Given the description of an element on the screen output the (x, y) to click on. 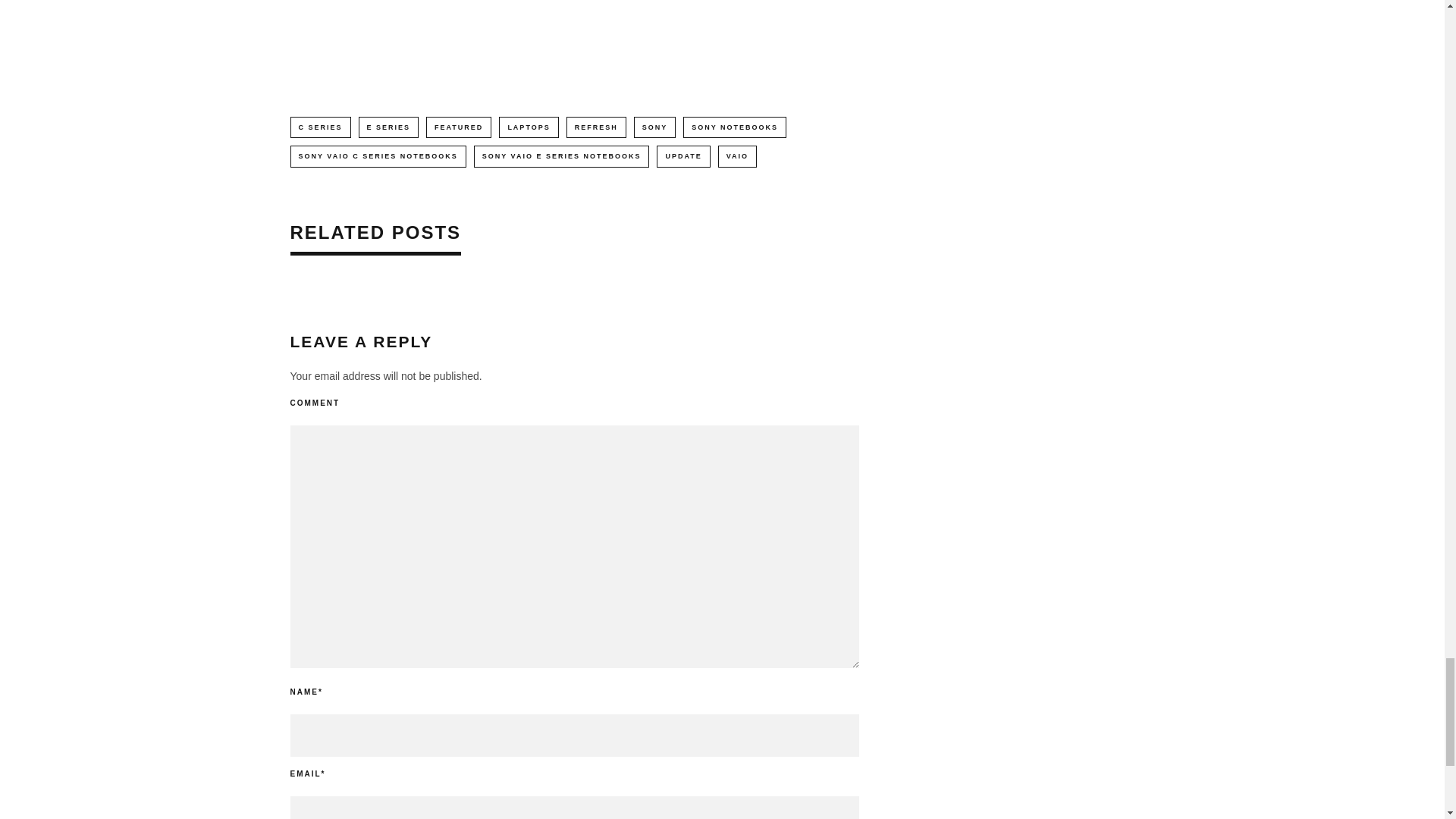
VAIO (737, 156)
SONY (655, 127)
SONY NOTEBOOKS (734, 127)
REFRESH (596, 127)
SONY VAIO E SERIES NOTEBOOKS (561, 156)
UPDATE (683, 156)
LAPTOPS (528, 127)
C SERIES (319, 127)
FEATURED (459, 127)
SONY VAIO C SERIES NOTEBOOKS (377, 156)
